Given the description of an element on the screen output the (x, y) to click on. 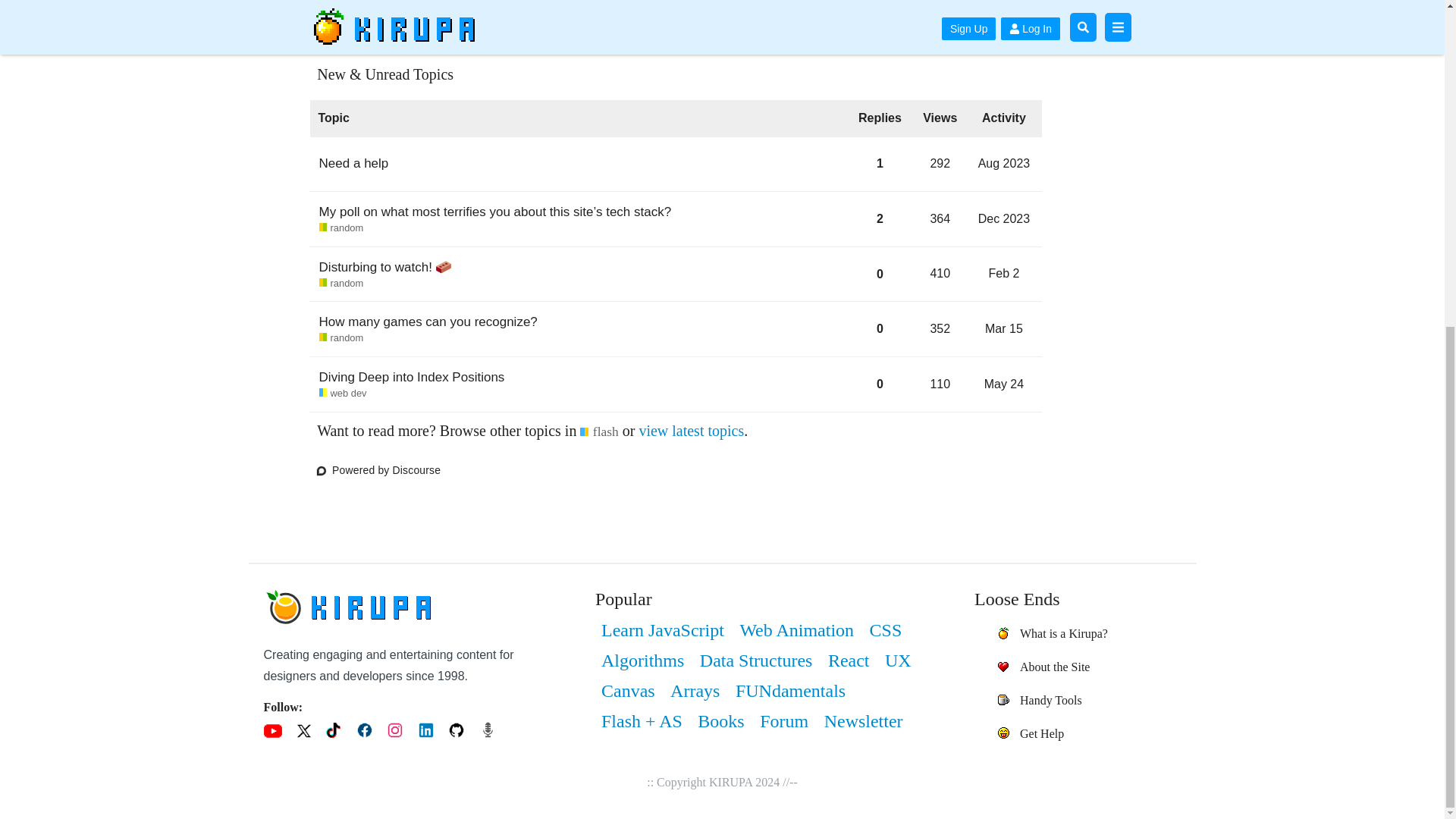
Dec 2023 (1003, 218)
This topic has 1 reply (880, 168)
random (1005, 219)
Mar 15 (341, 228)
Aug 2023 (1003, 328)
brick (1003, 162)
How many games can you recognize? (443, 266)
Diving Deep into Index Positions (427, 321)
this topic has been viewed 292 times (411, 376)
Need a help (940, 163)
This topic has 2 replies (353, 162)
flash (880, 219)
this topic has been viewed 364 times (598, 431)
Reply (940, 218)
